Given the description of an element on the screen output the (x, y) to click on. 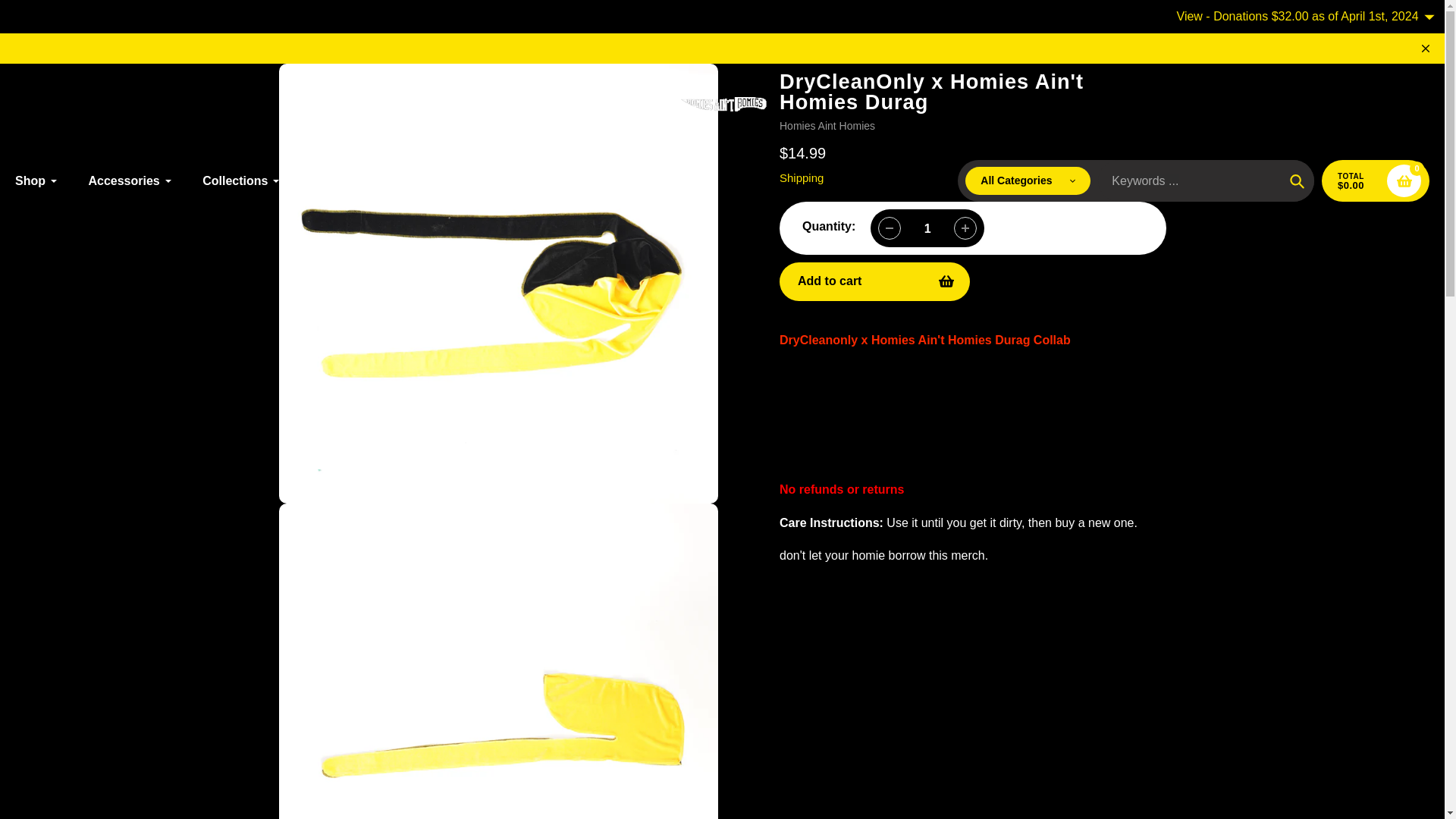
Homies Aint Homies (826, 125)
1 (927, 228)
My Account (1276, 104)
